Given the description of an element on the screen output the (x, y) to click on. 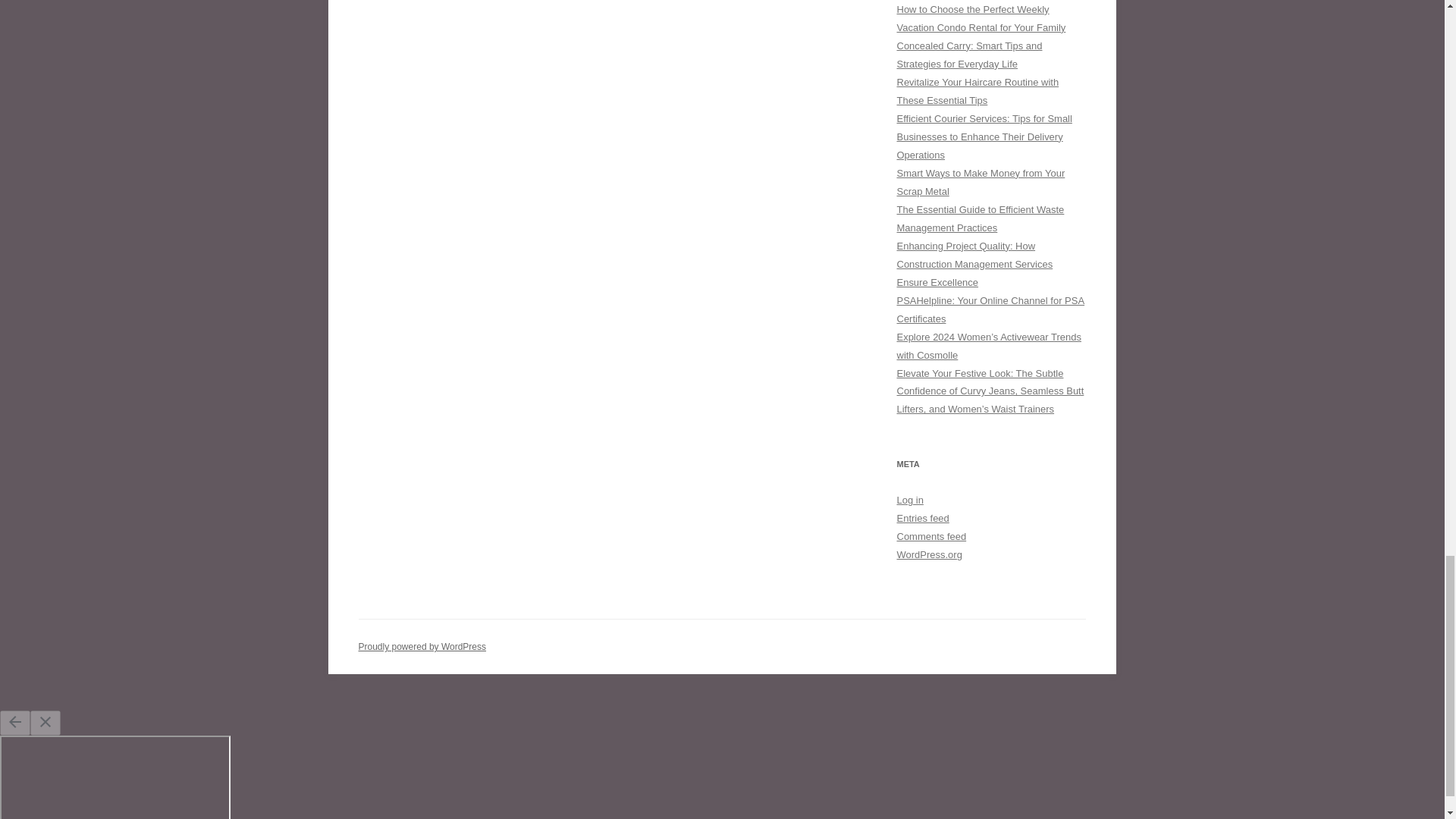
Concealed Carry: Smart Tips and Strategies for Everyday Life (969, 54)
The Essential Guide to Efficient Waste Management Practices (980, 218)
Revitalize Your Haircare Routine with These Essential Tips (977, 91)
Semantic Personal Publishing Platform (422, 646)
PSAHelpline: Your Online Channel for PSA Certificates (990, 309)
Smart Ways to Make Money from Your Scrap Metal (980, 182)
